Given the description of an element on the screen output the (x, y) to click on. 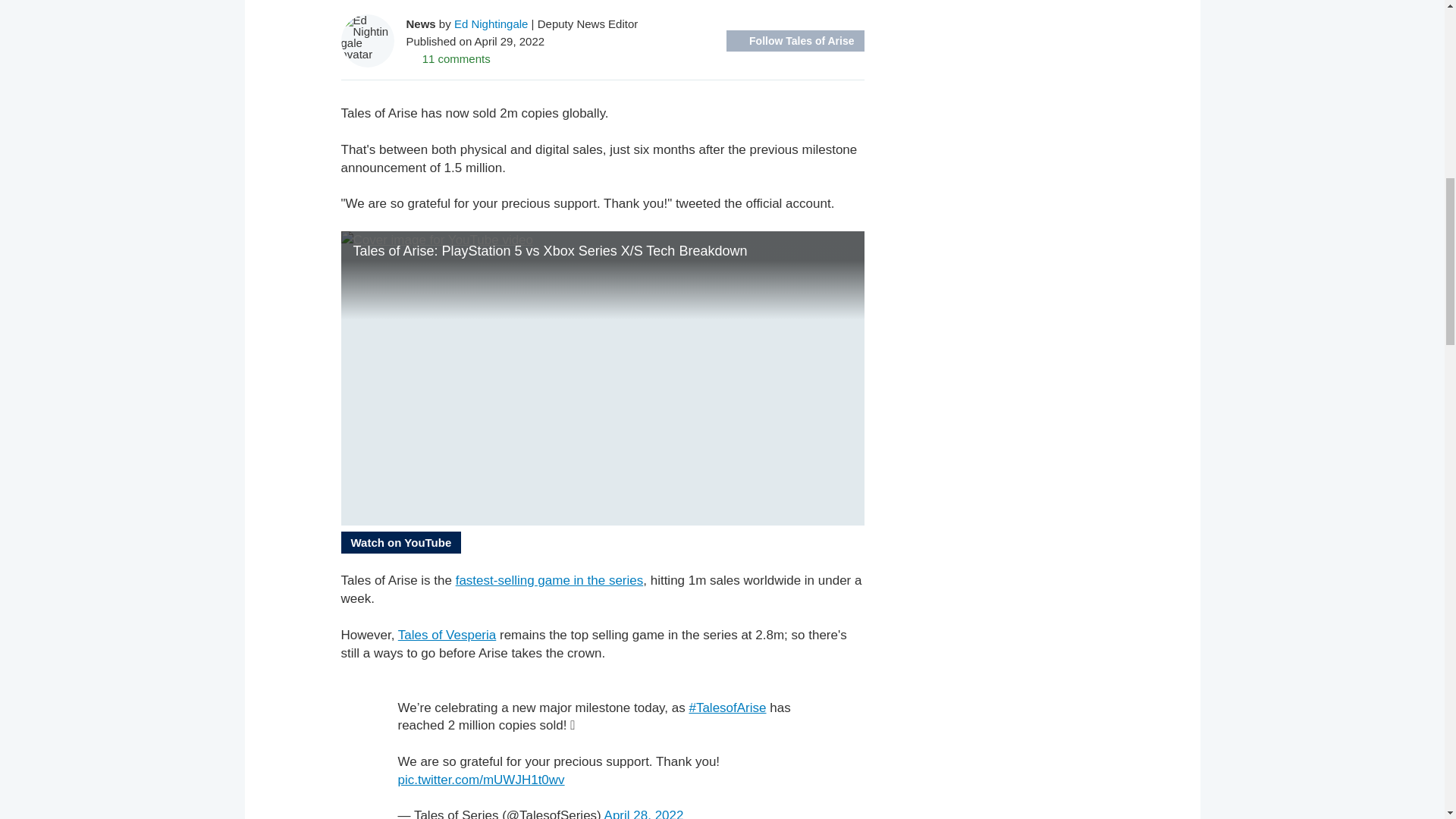
fastest-selling game in the series (549, 580)
Tales of Vesperia (446, 635)
April 28, 2022 (644, 813)
11 comments (448, 57)
Watch on YouTube (400, 542)
Follow Tales of Arise (794, 40)
Ed Nightingale (491, 22)
